Given the description of an element on the screen output the (x, y) to click on. 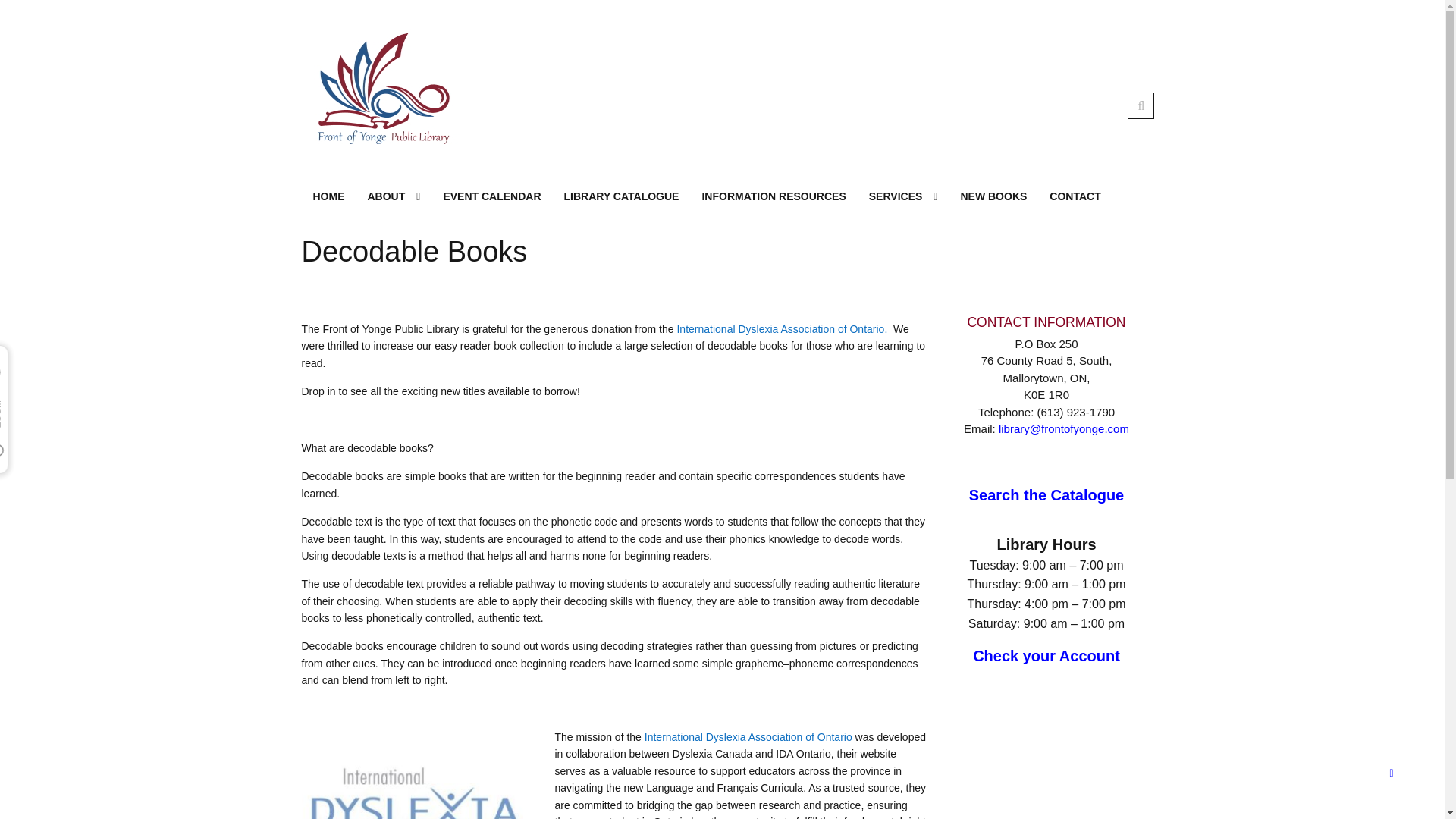
International Dyslexia Association of Ontario (748, 736)
Search the Catalogue (1046, 494)
LIBRARY CATALOGUE (621, 196)
HOME (328, 196)
NEW BOOKS (993, 196)
INFORMATION RESOURCES (773, 196)
EVENT CALENDAR (490, 196)
International Dyslexia Association of Ontario. (781, 328)
ABOUT (394, 196)
CONTACT (1075, 196)
